Given the description of an element on the screen output the (x, y) to click on. 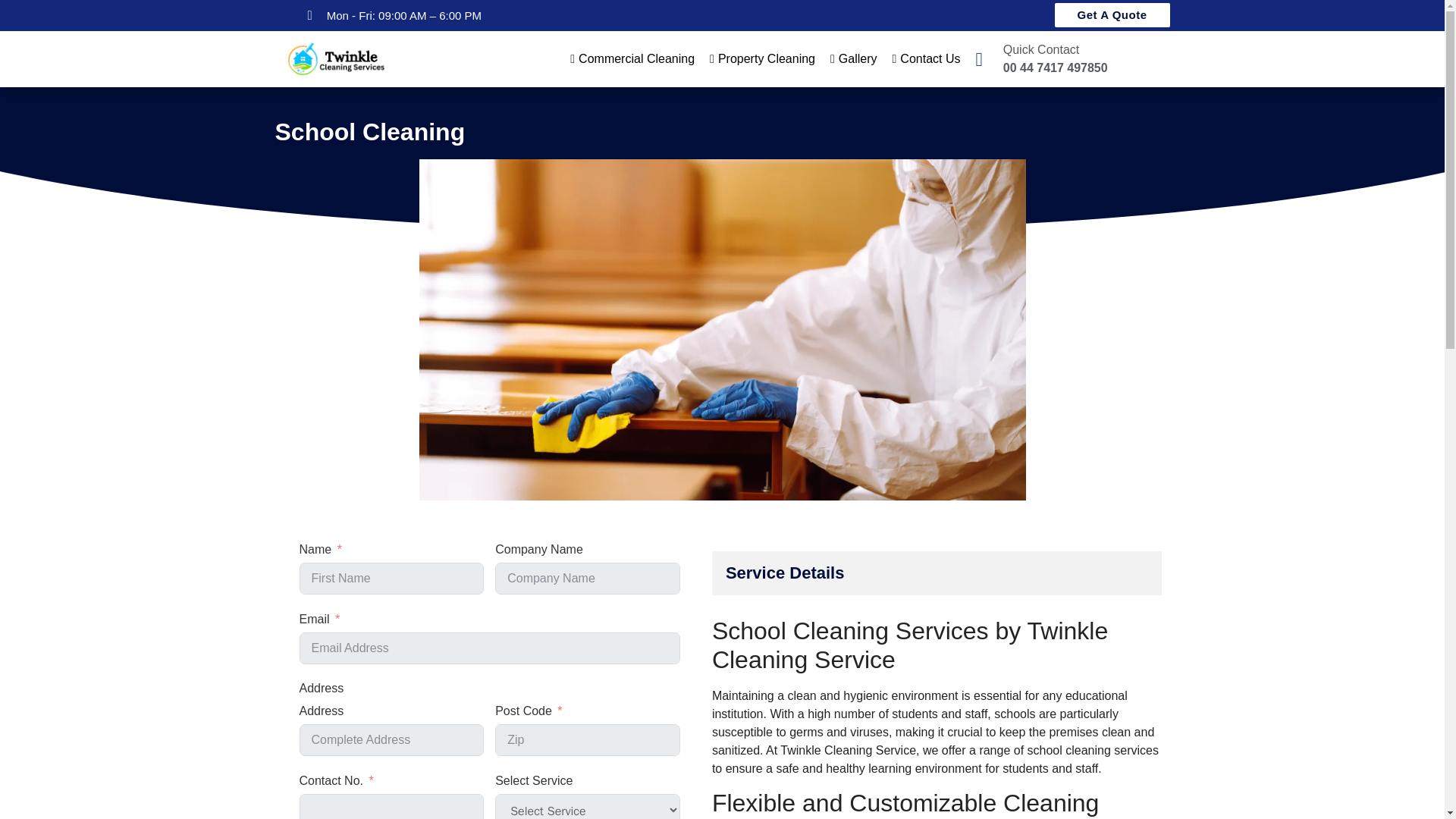
Contact Us (926, 58)
Get A Quote (1112, 15)
Property Cleaning (761, 58)
Commercial Cleaning (631, 58)
Gallery (853, 58)
